Given the description of an element on the screen output the (x, y) to click on. 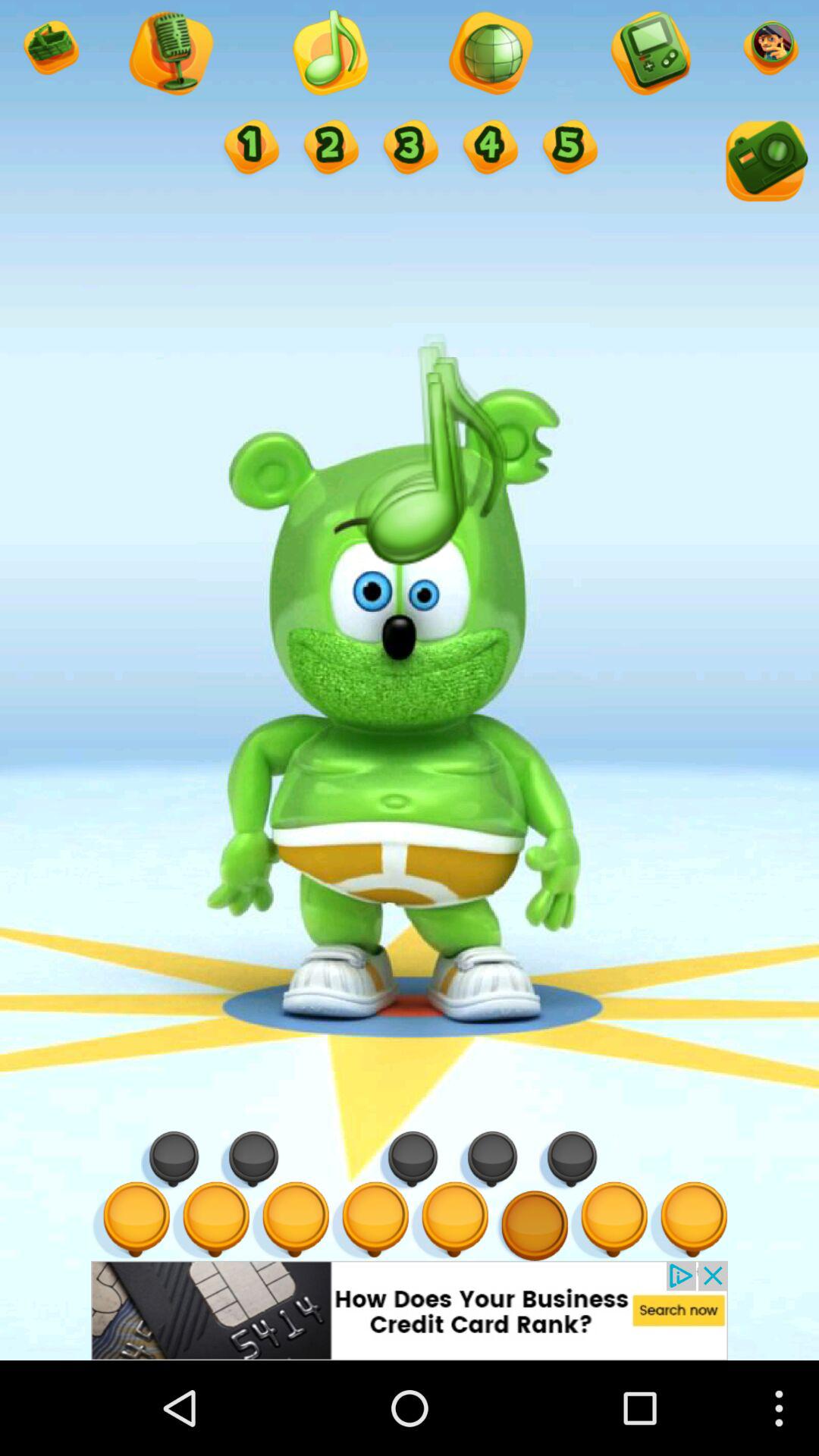
audio microphone (169, 55)
